Given the description of an element on the screen output the (x, y) to click on. 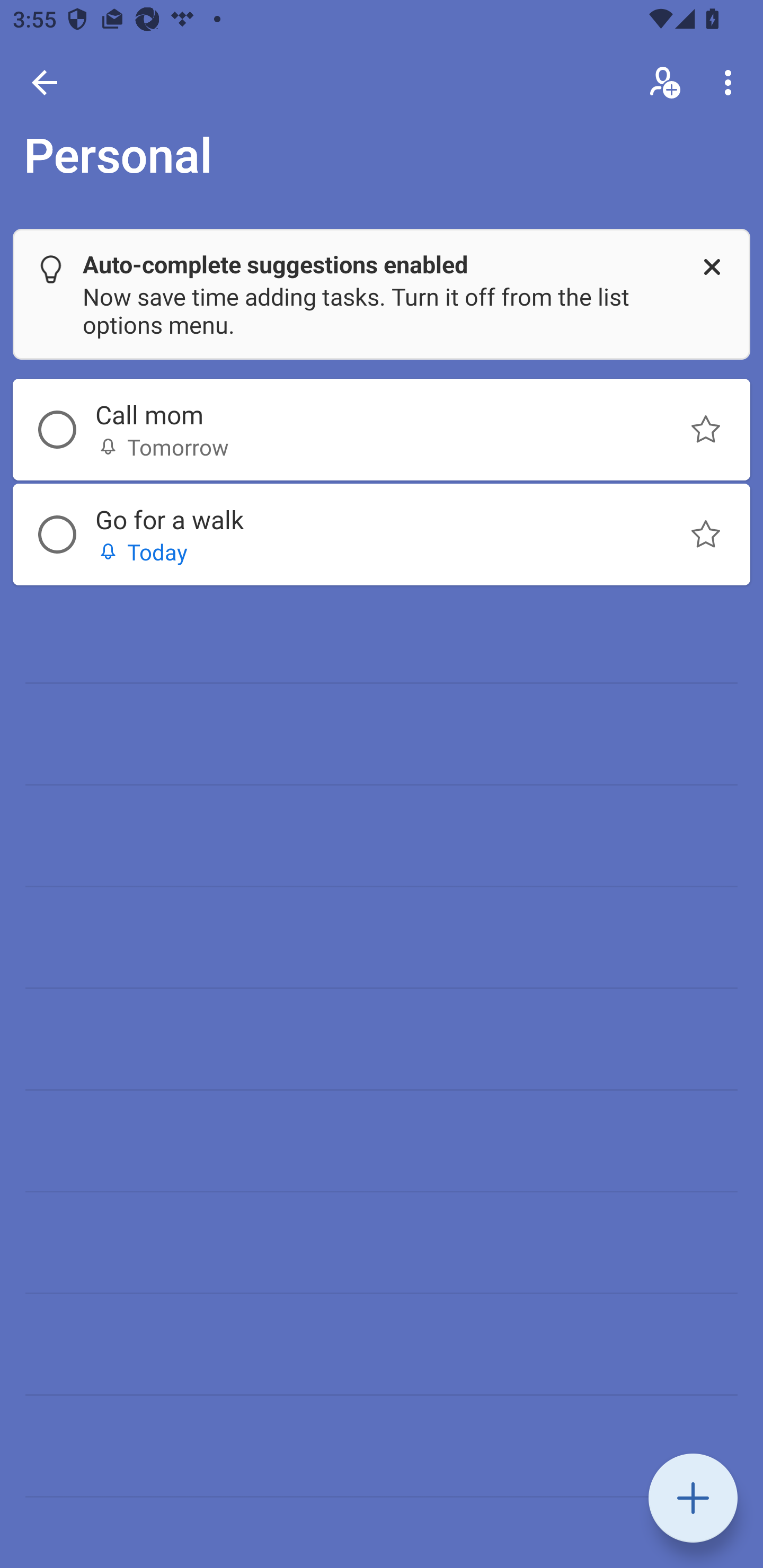
Add a task (692, 1497)
